Given the description of an element on the screen output the (x, y) to click on. 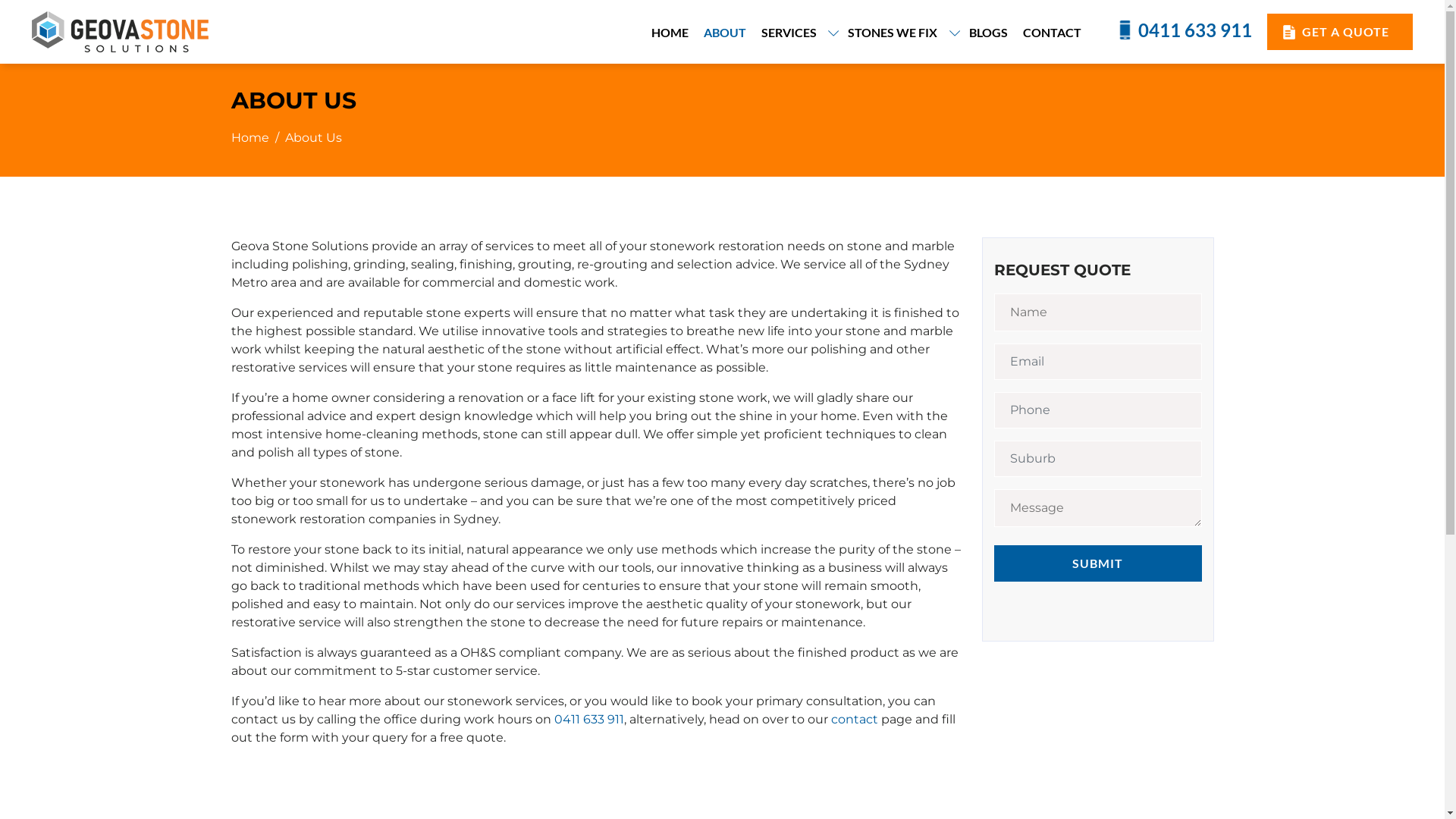
GET A QUOTE Element type: text (1339, 31)
0411 633 911 Element type: text (1183, 29)
SERVICES Element type: text (797, 32)
STONES WE FIX Element type: text (900, 32)
Home Element type: text (249, 137)
HOME Element type: text (669, 32)
BLOGS Element type: text (988, 32)
Submit Element type: text (1097, 563)
CONTACT Element type: text (1051, 32)
ABOUT Element type: text (724, 32)
0411 633 911 Element type: text (588, 719)
contact Element type: text (854, 719)
